Given the description of an element on the screen output the (x, y) to click on. 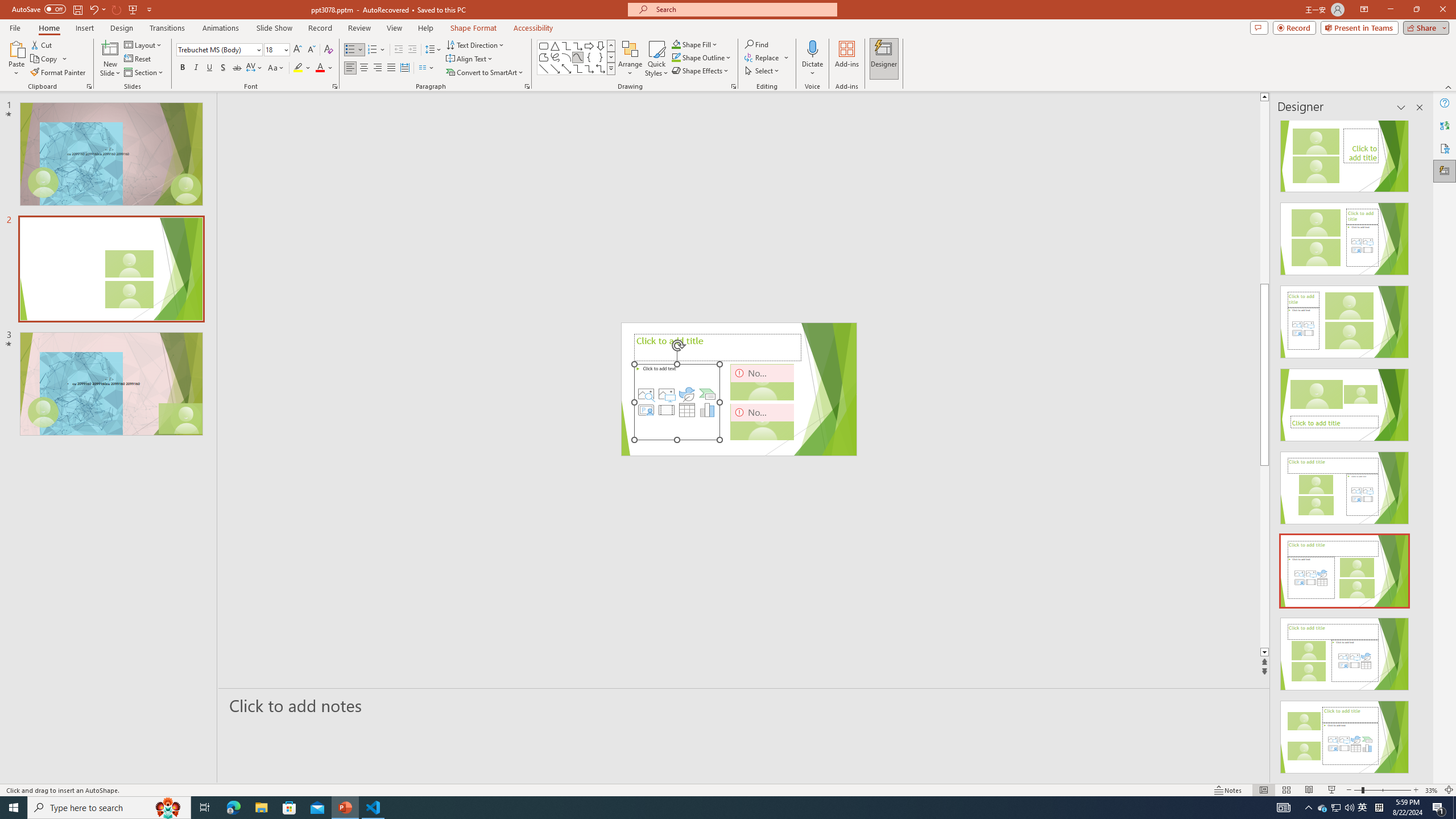
Shape Effects (700, 69)
Stock Images (646, 394)
